Given the description of an element on the screen output the (x, y) to click on. 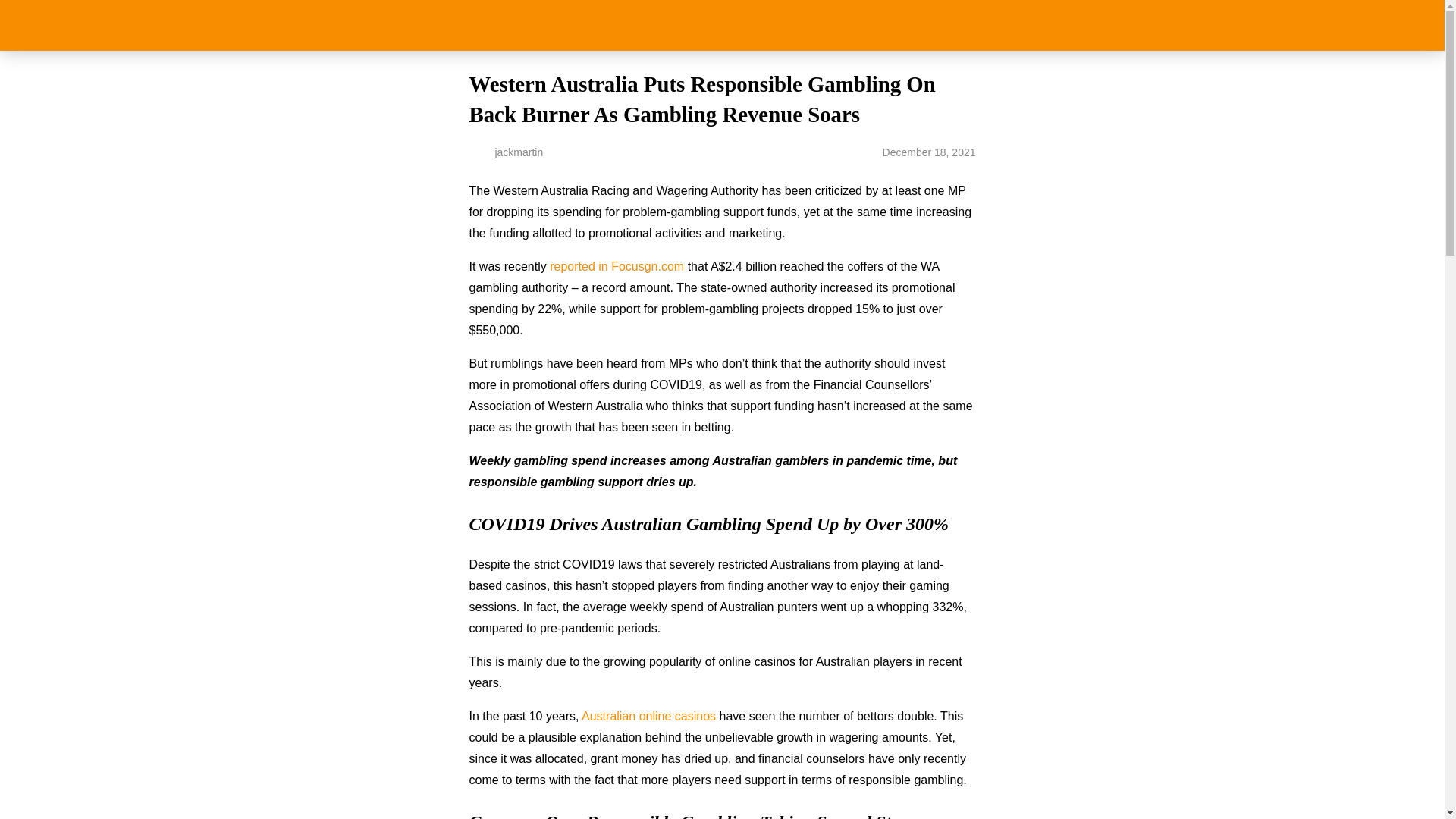
Sydneynewstoday.com (721, 25)
Australian online casinos (648, 716)
reported in Focusgn.com (617, 266)
